Given the description of an element on the screen output the (x, y) to click on. 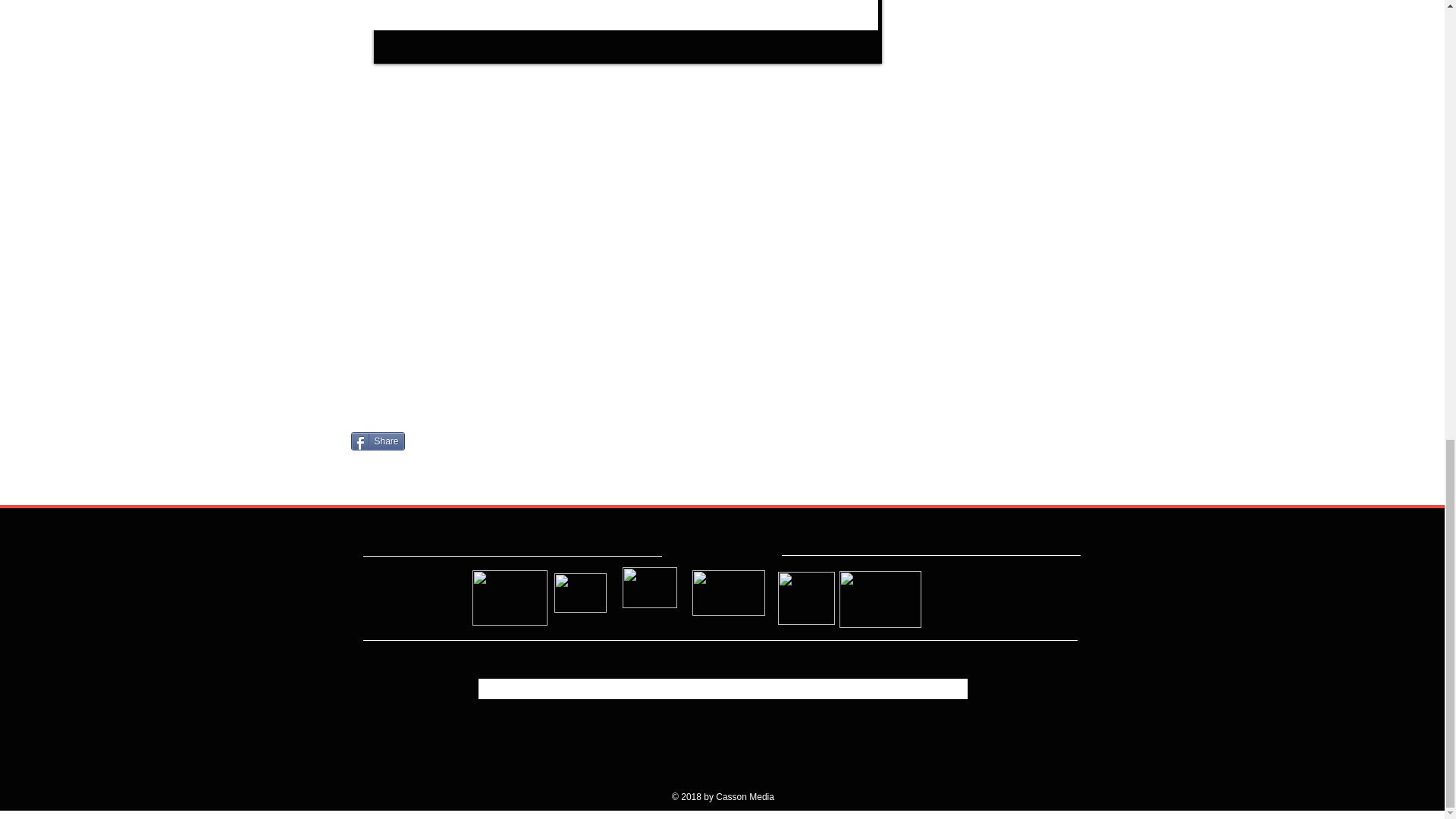
CASSON MEDIA LOGO plain.jpg (727, 592)
CIFN LOGO AD W DOT COM.jpg (509, 597)
Share (377, 441)
FAIRBURY CITY HALL NIGHTTIME.jpg (579, 592)
Share (377, 441)
EYE ON CENTRAL ILLINOIS 3.jpg (879, 599)
FAIRBURY WATER TOWER.JPG (649, 587)
CIFN RADIO GREENWELL LOGO.jpg (805, 597)
